Given the description of an element on the screen output the (x, y) to click on. 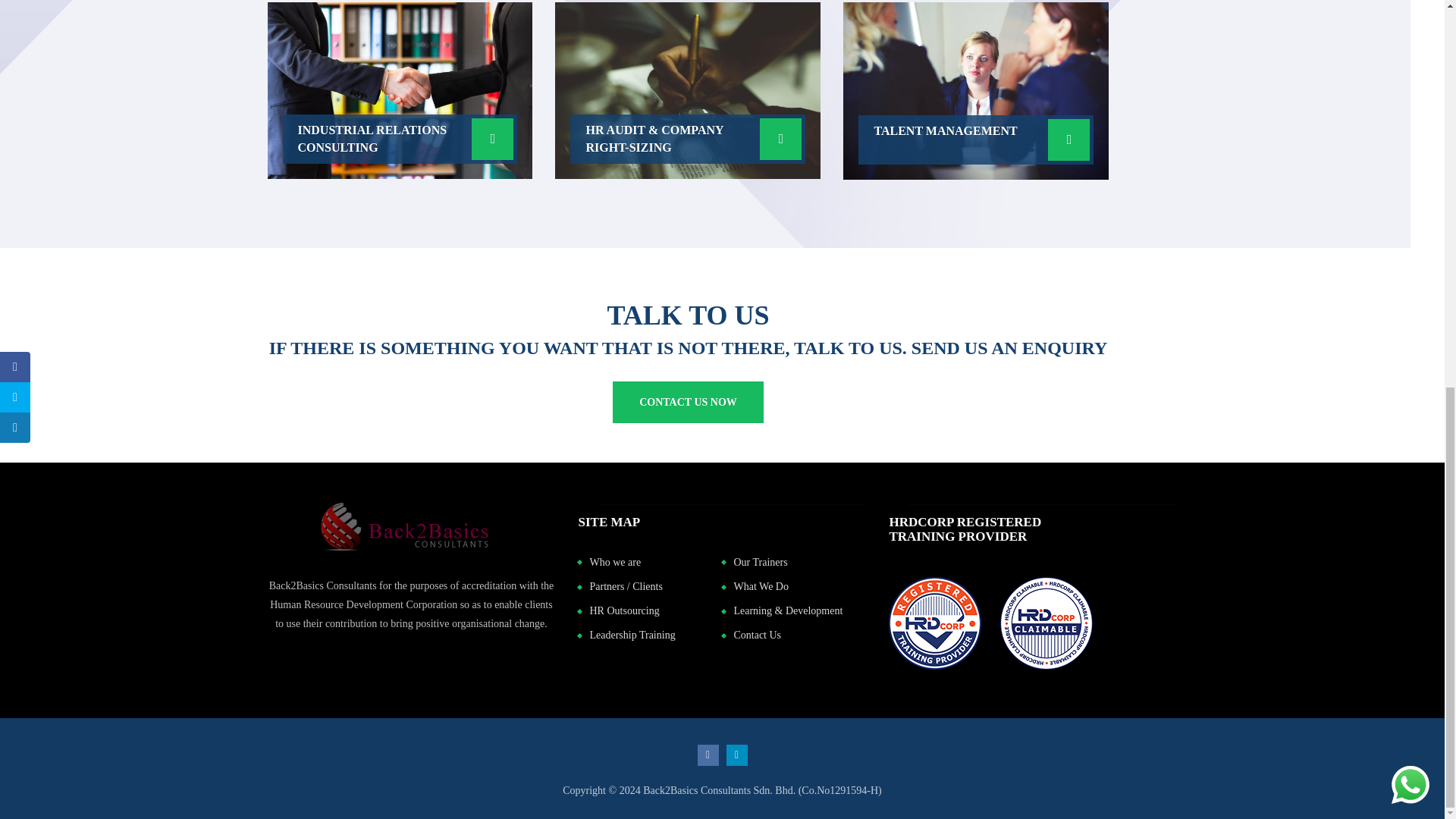
Talent Management website (975, 90)
photo-of-two-people-shakehands-2058130 (399, 90)
Hr audit (687, 90)
WhatsApp us (1410, 50)
